Given the description of an element on the screen output the (x, y) to click on. 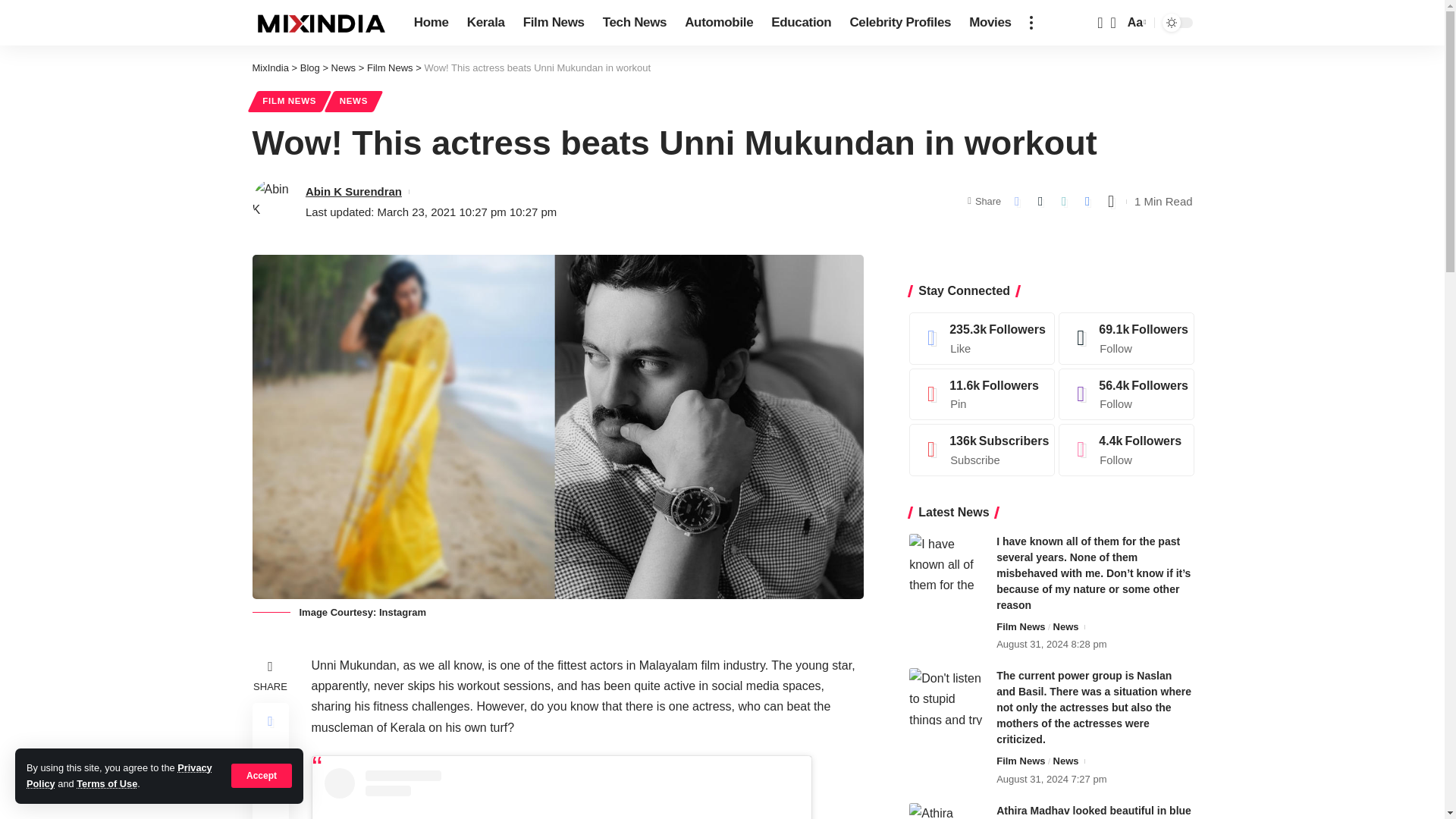
Education (800, 22)
Privacy Policy (119, 775)
MixIndia (319, 22)
Go to Blog. (309, 67)
Go to the Film News Category archives. (389, 67)
Automobile (718, 22)
MixIndia (269, 67)
Film News (553, 22)
Accept (261, 775)
Celebrity Profiles (899, 22)
